Given the description of an element on the screen output the (x, y) to click on. 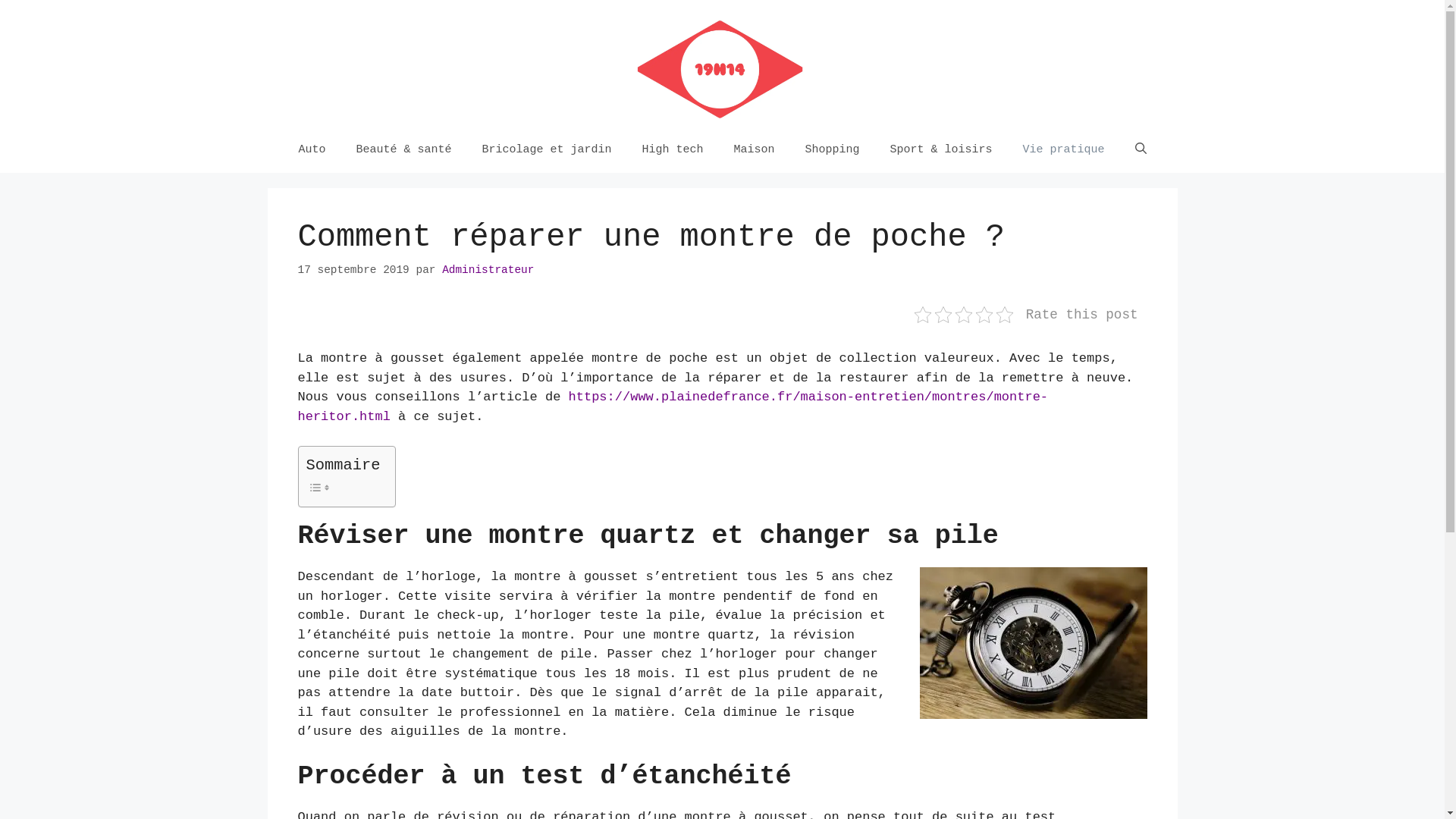
Shopping Element type: text (832, 149)
High tech Element type: text (672, 149)
Sport & loisirs Element type: text (941, 149)
Administrateur Element type: text (487, 269)
Vie pratique Element type: text (1063, 149)
Auto Element type: text (311, 149)
Bricolage et jardin Element type: text (546, 149)
Maison Element type: text (754, 149)
